Given the description of an element on the screen output the (x, y) to click on. 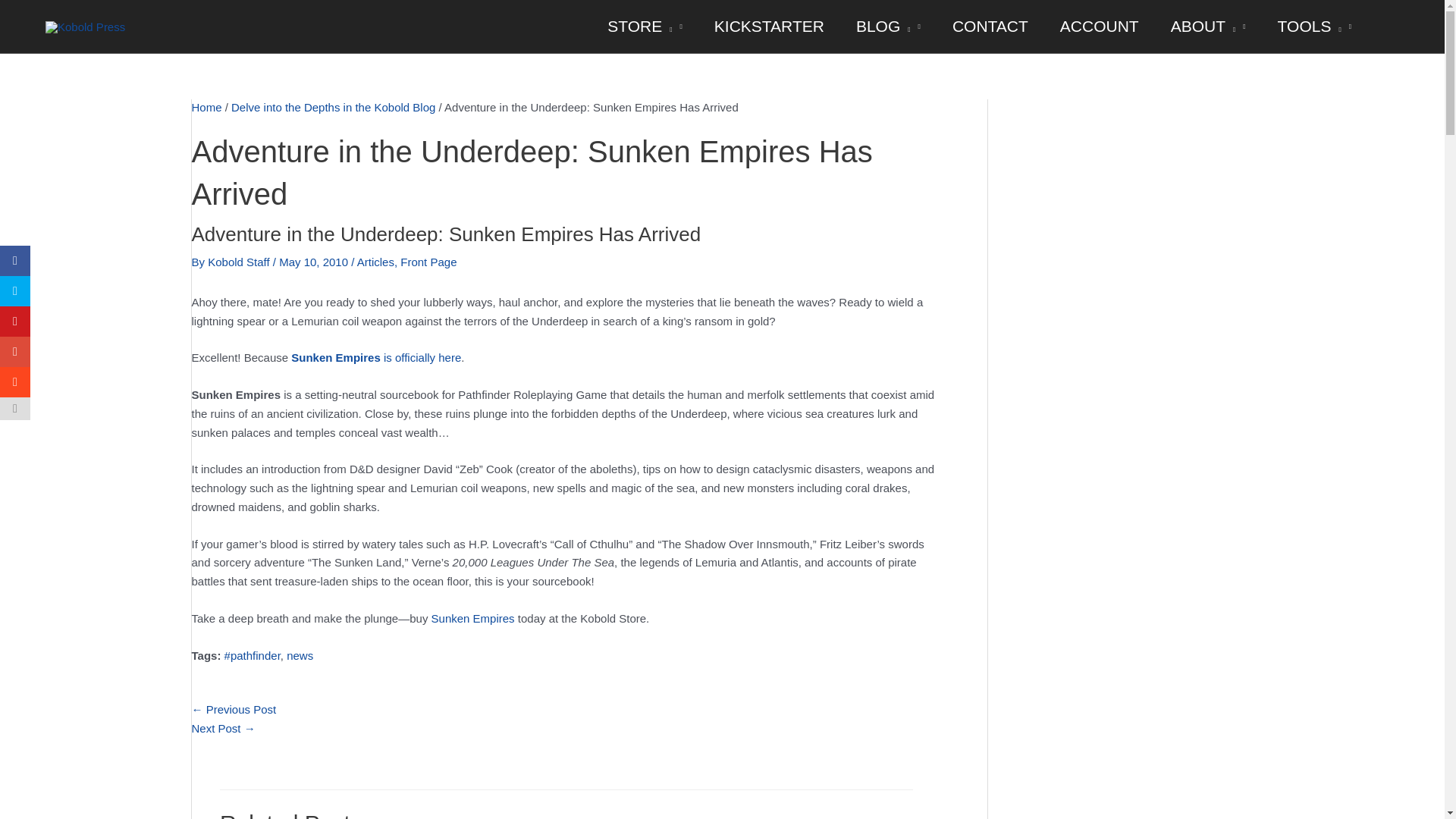
TOOLS (1314, 26)
BLOG (888, 26)
ACCOUNT (1098, 26)
KICKSTARTER (769, 26)
ABOUT (1208, 26)
Metron, Angel of Knowledge and Truth (233, 708)
View all posts by Kobold Staff (240, 261)
STORE (644, 26)
CONTACT (989, 26)
